Given the description of an element on the screen output the (x, y) to click on. 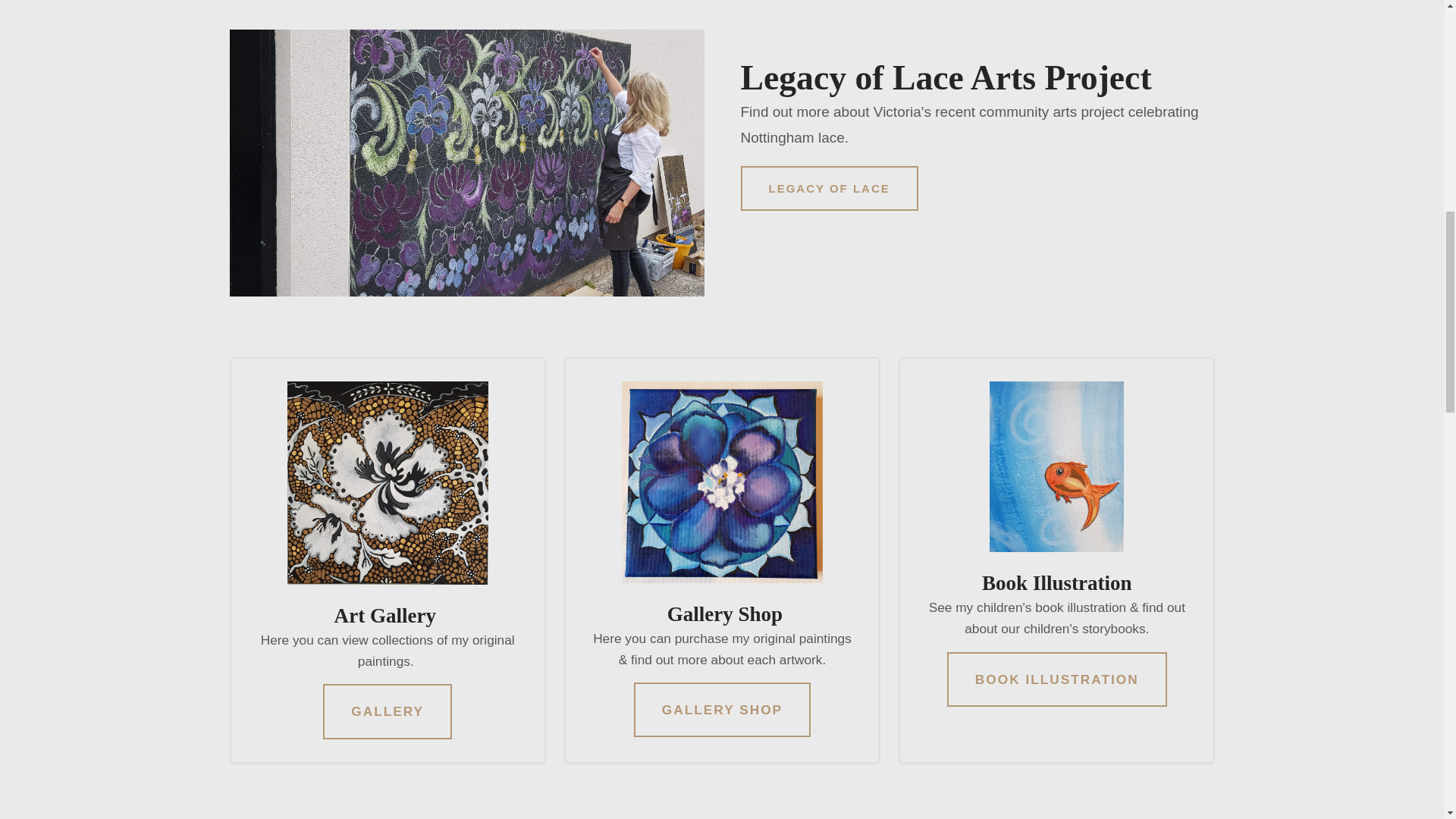
GALLERY SHOP (721, 709)
BOOK ILLUSTRATION (1057, 678)
GALLERY (387, 710)
LEGACY OF LACE (828, 188)
